Given the description of an element on the screen output the (x, y) to click on. 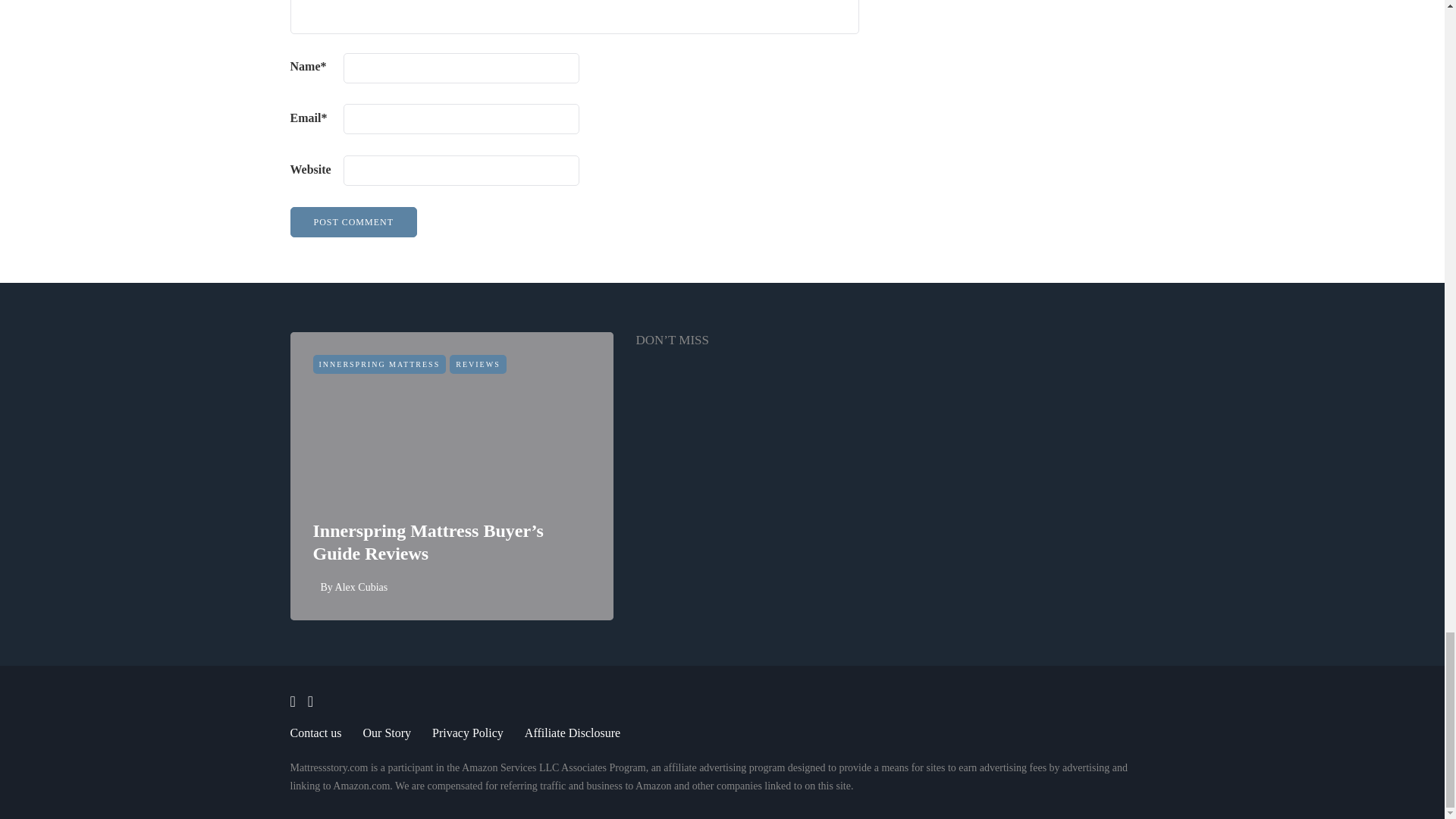
Post comment (352, 222)
